Given the description of an element on the screen output the (x, y) to click on. 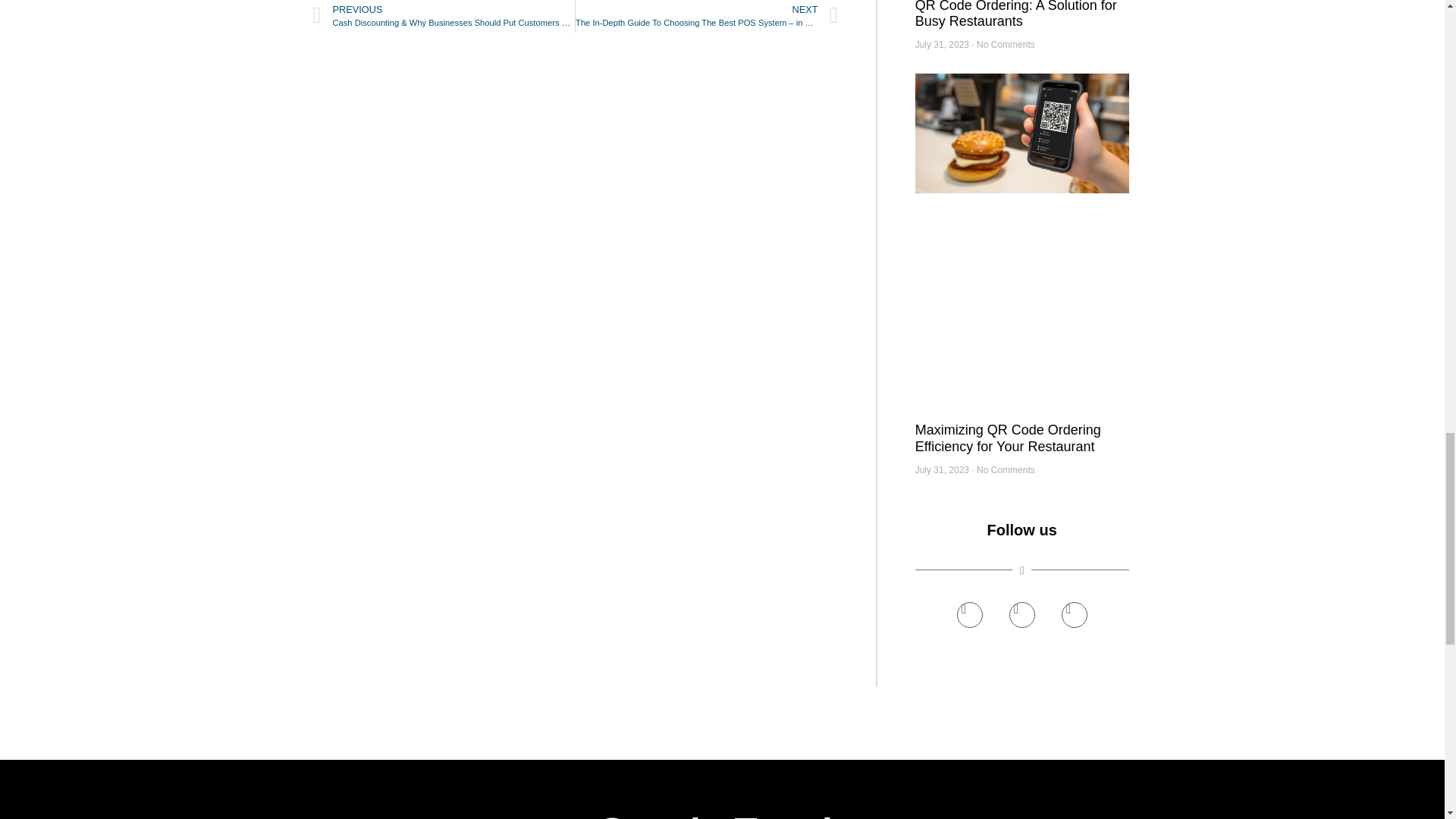
Follow us (1022, 529)
Stay in Touch (722, 816)
QR Code Ordering: A Solution for Busy Restaurants (1015, 14)
Maximizing QR Code Ordering Efficiency for Your Restaurant (1007, 438)
